Given the description of an element on the screen output the (x, y) to click on. 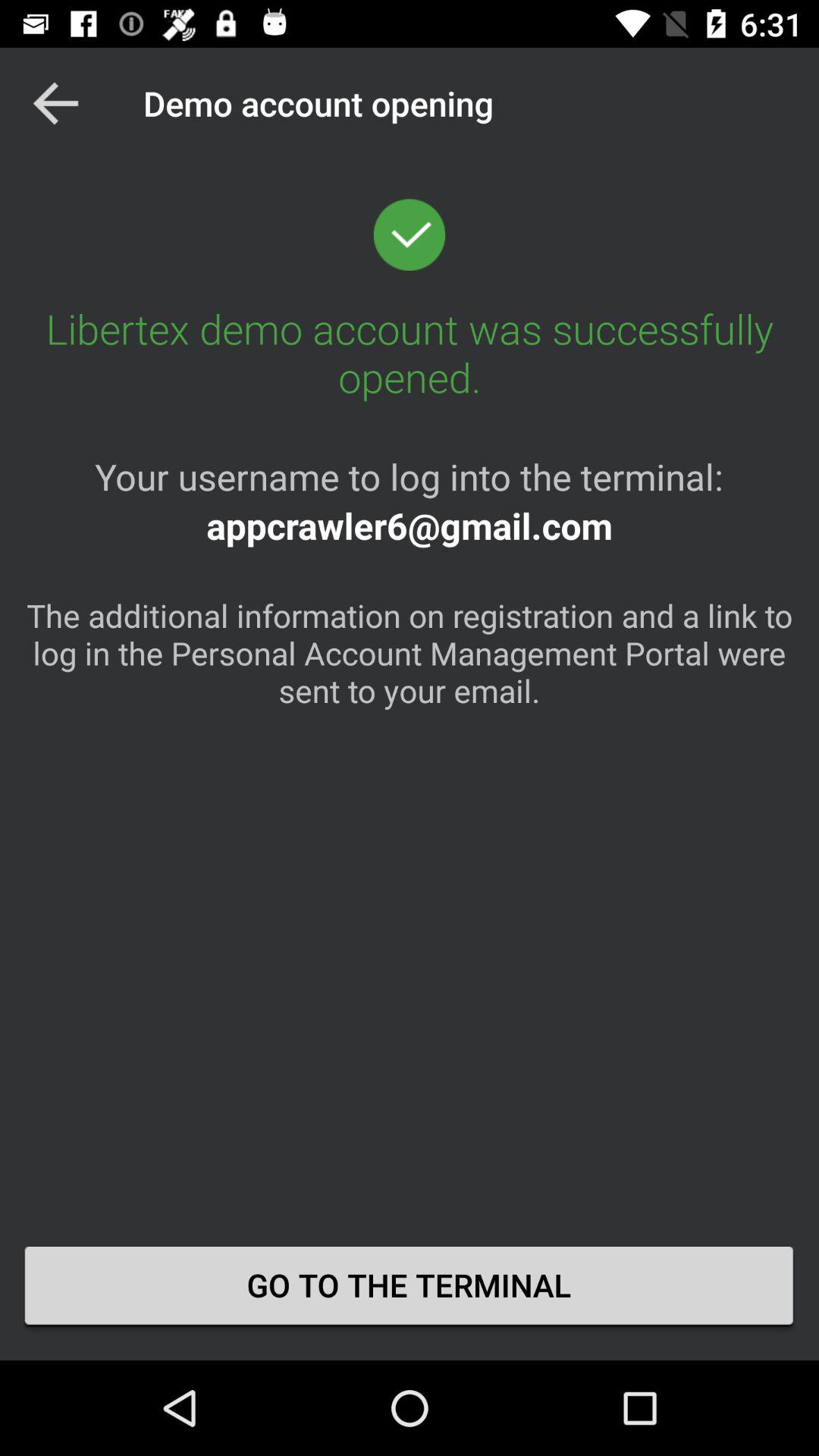
go back (55, 103)
